Given the description of an element on the screen output the (x, y) to click on. 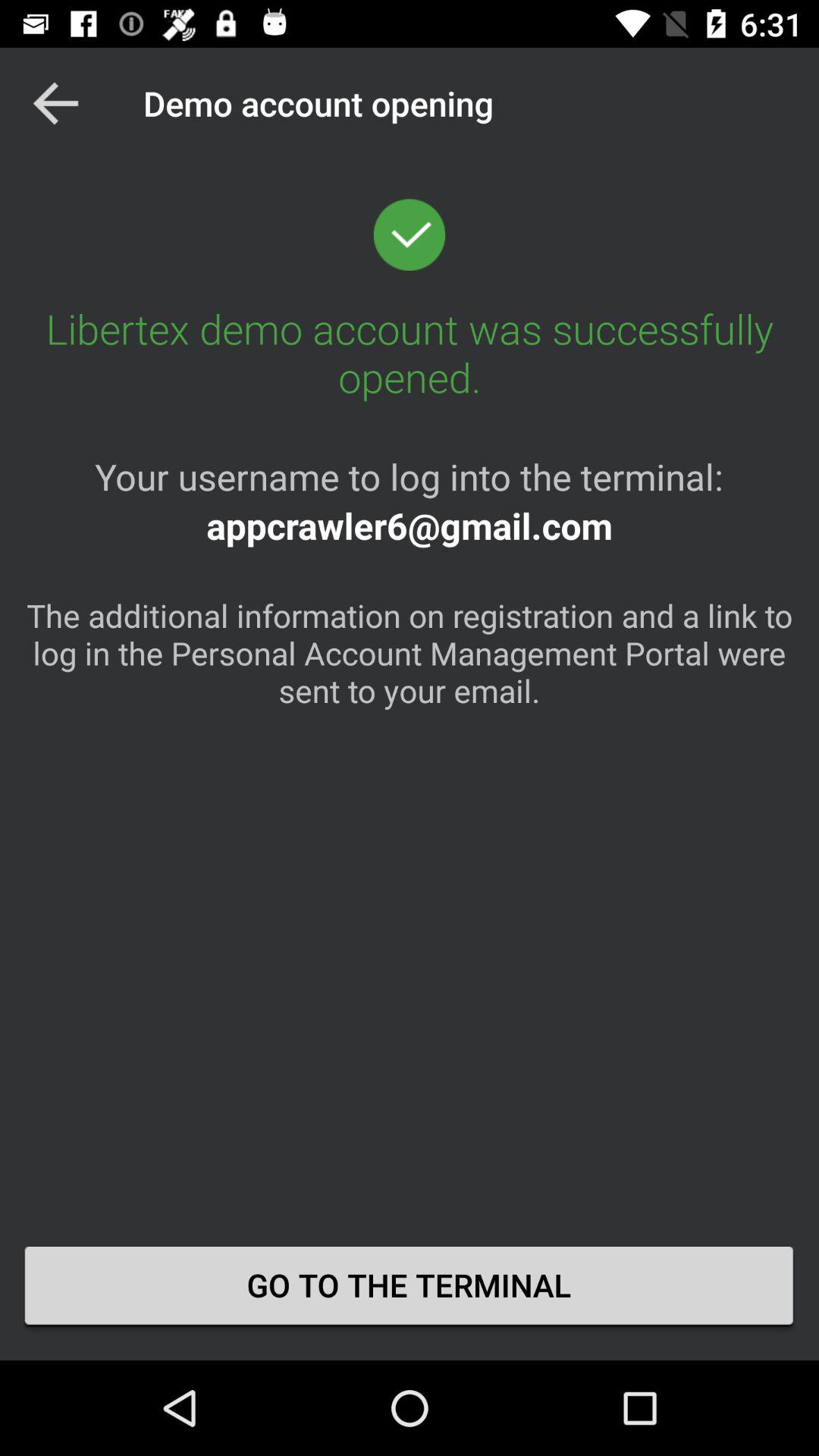
go back (55, 103)
